Given the description of an element on the screen output the (x, y) to click on. 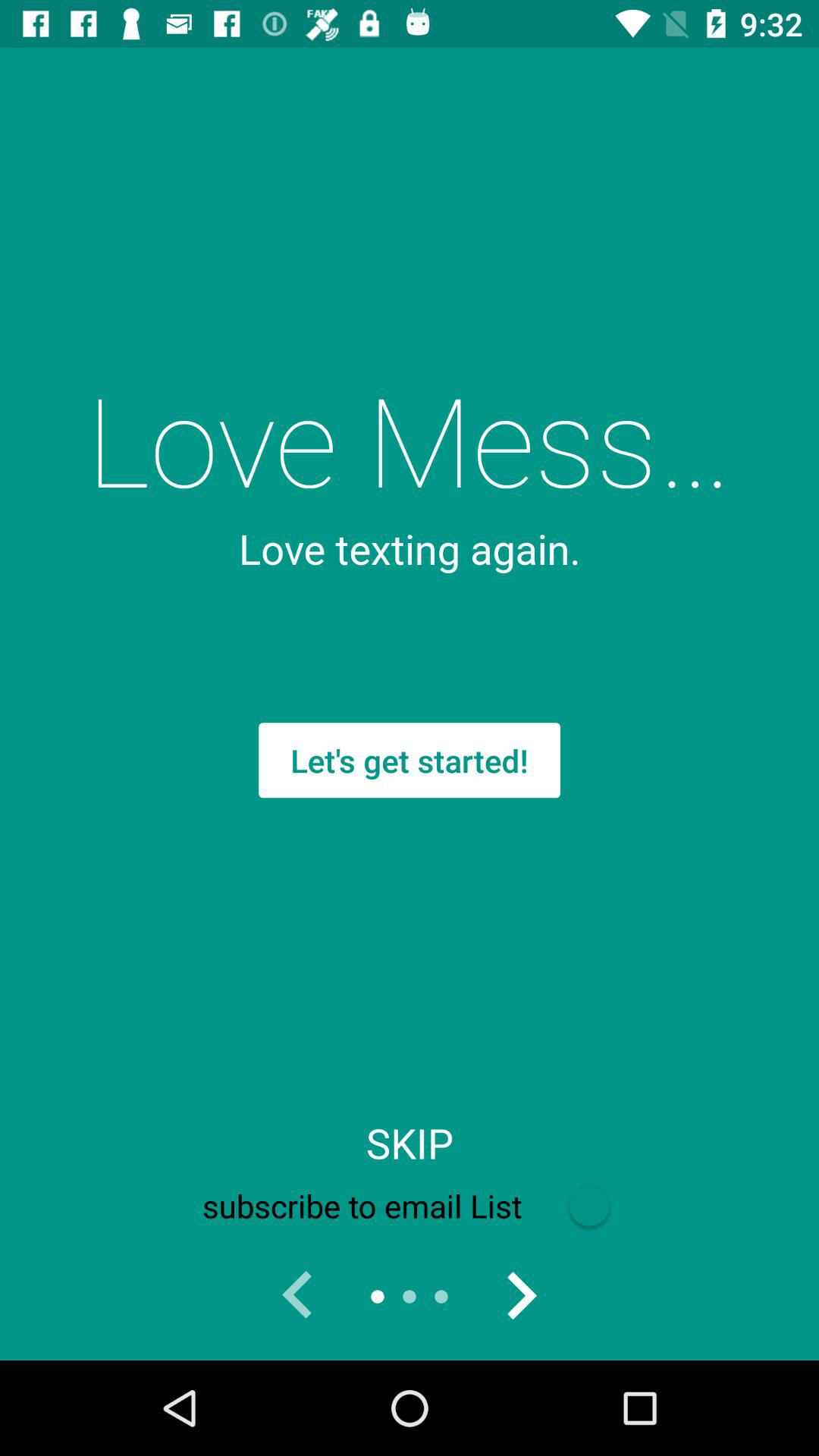
press the skip item (409, 1143)
